Given the description of an element on the screen output the (x, y) to click on. 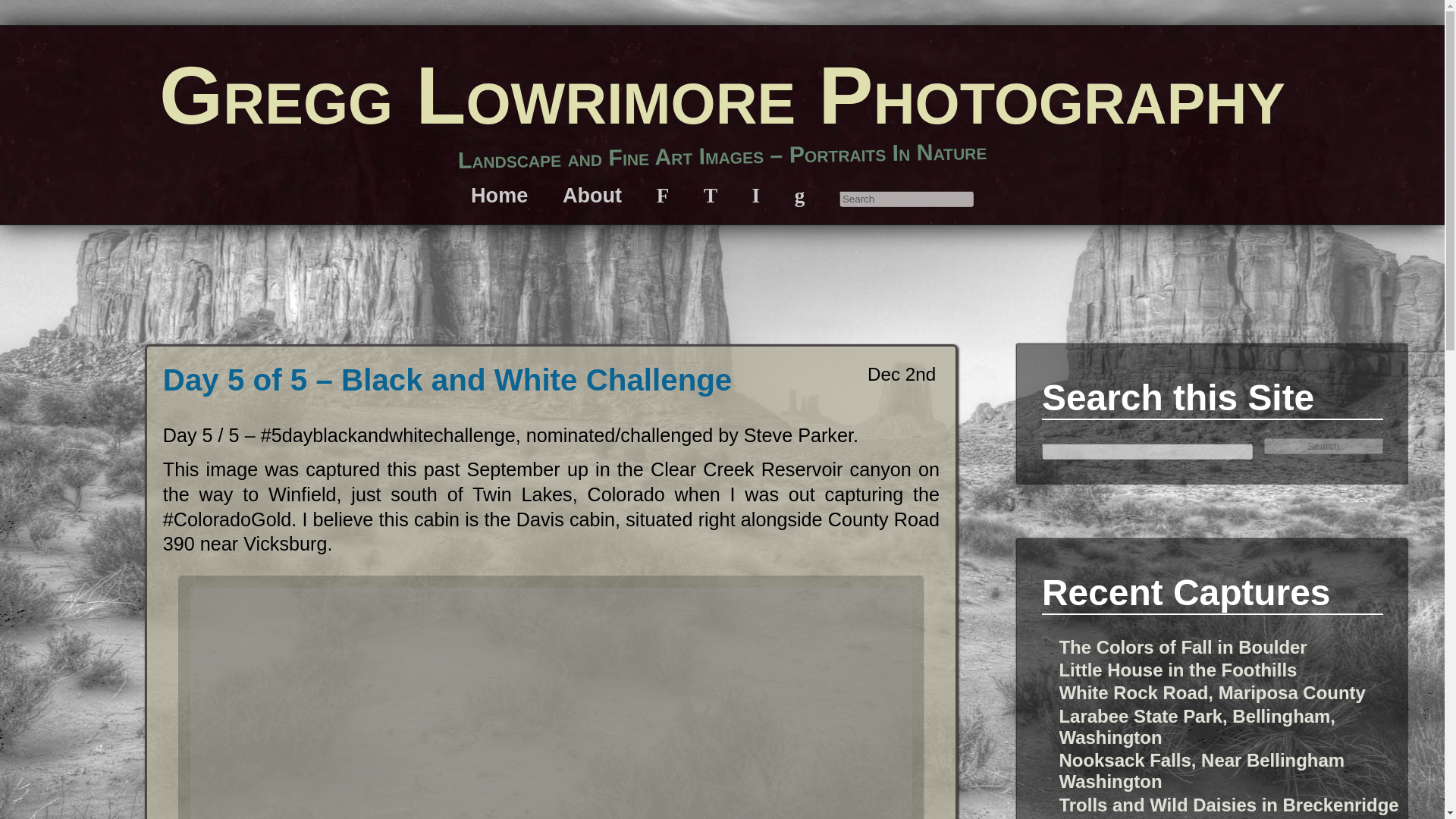
Search (1323, 446)
Search (1323, 446)
Nooksack Falls, Near Bellingham Washington (1200, 770)
Trolls and Wild Daisies in Breckenridge (1227, 804)
Larabee State Park, Bellingham, Washington (1196, 726)
Search (907, 198)
Gregg Lowrimore Photography (721, 94)
Little House in the Foothills (1177, 670)
Home (498, 195)
About (591, 195)
The Colors of Fall in Boulder (1182, 647)
White Rock Road, Mariposa County (1211, 692)
